Given the description of an element on the screen output the (x, y) to click on. 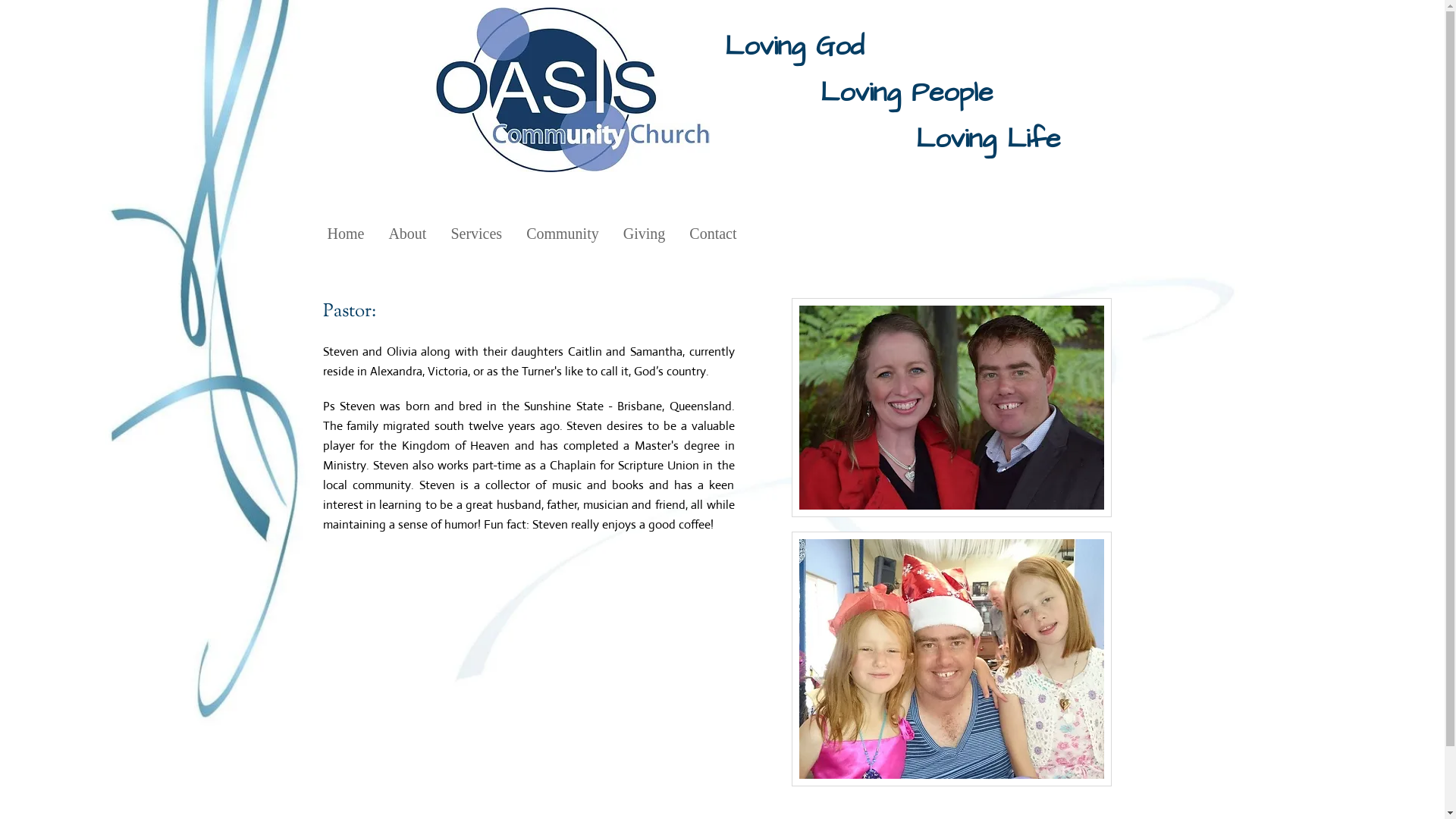
Community Element type: text (562, 233)
Home Element type: text (345, 233)
About Element type: text (407, 233)
Services Element type: text (476, 233)
Contact Element type: text (712, 233)
Giving Element type: text (644, 233)
